Given the description of an element on the screen output the (x, y) to click on. 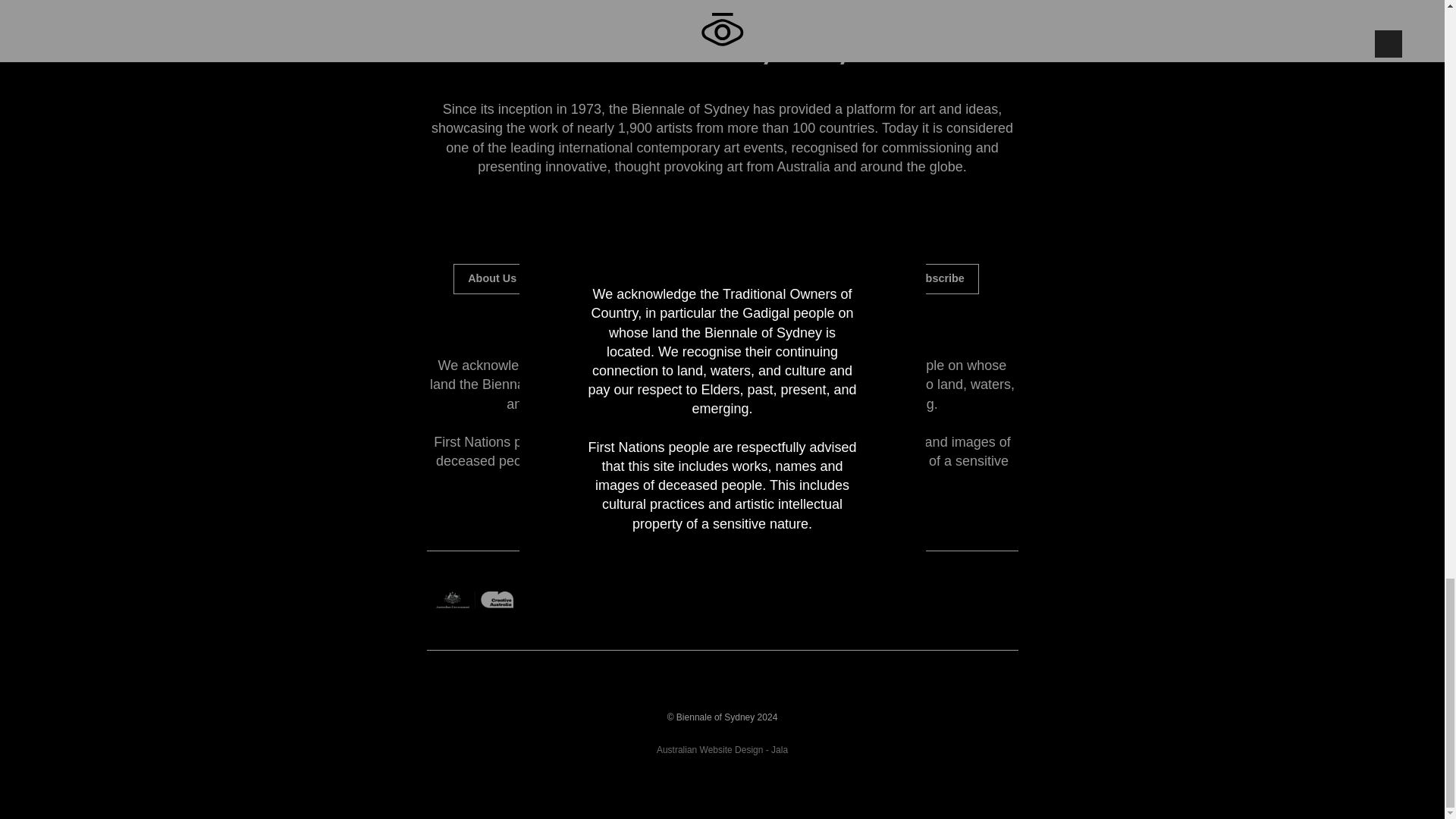
About Us (491, 278)
Donate (851, 278)
Subscribe (937, 278)
Jala Design (721, 749)
News (654, 278)
Contact (577, 278)
Australian Website Design - Jala (721, 749)
